Given the description of an element on the screen output the (x, y) to click on. 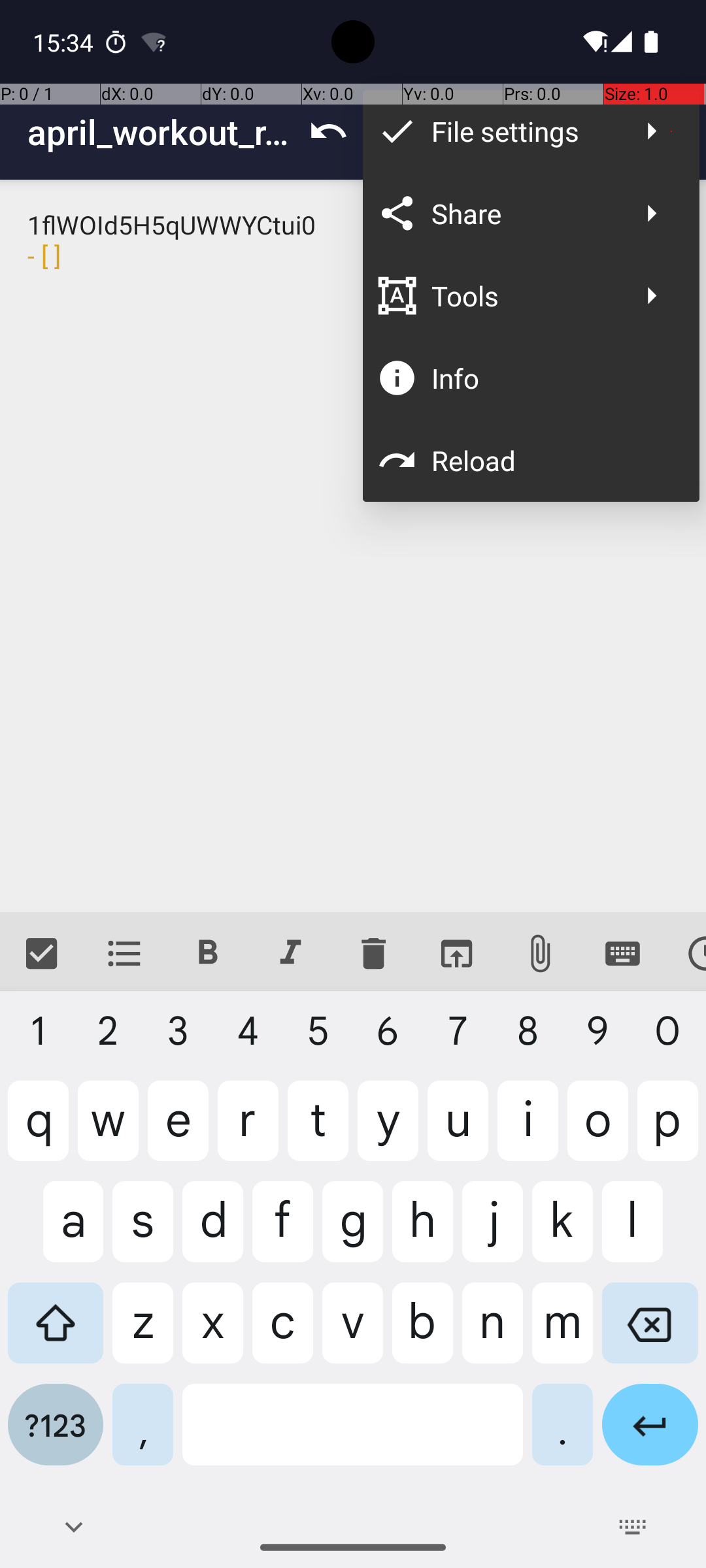
File settings Element type: android.widget.TextView (524, 130)
Tools Element type: android.widget.TextView (524, 295)
Info Element type: android.widget.TextView (551, 377)
